Given the description of an element on the screen output the (x, y) to click on. 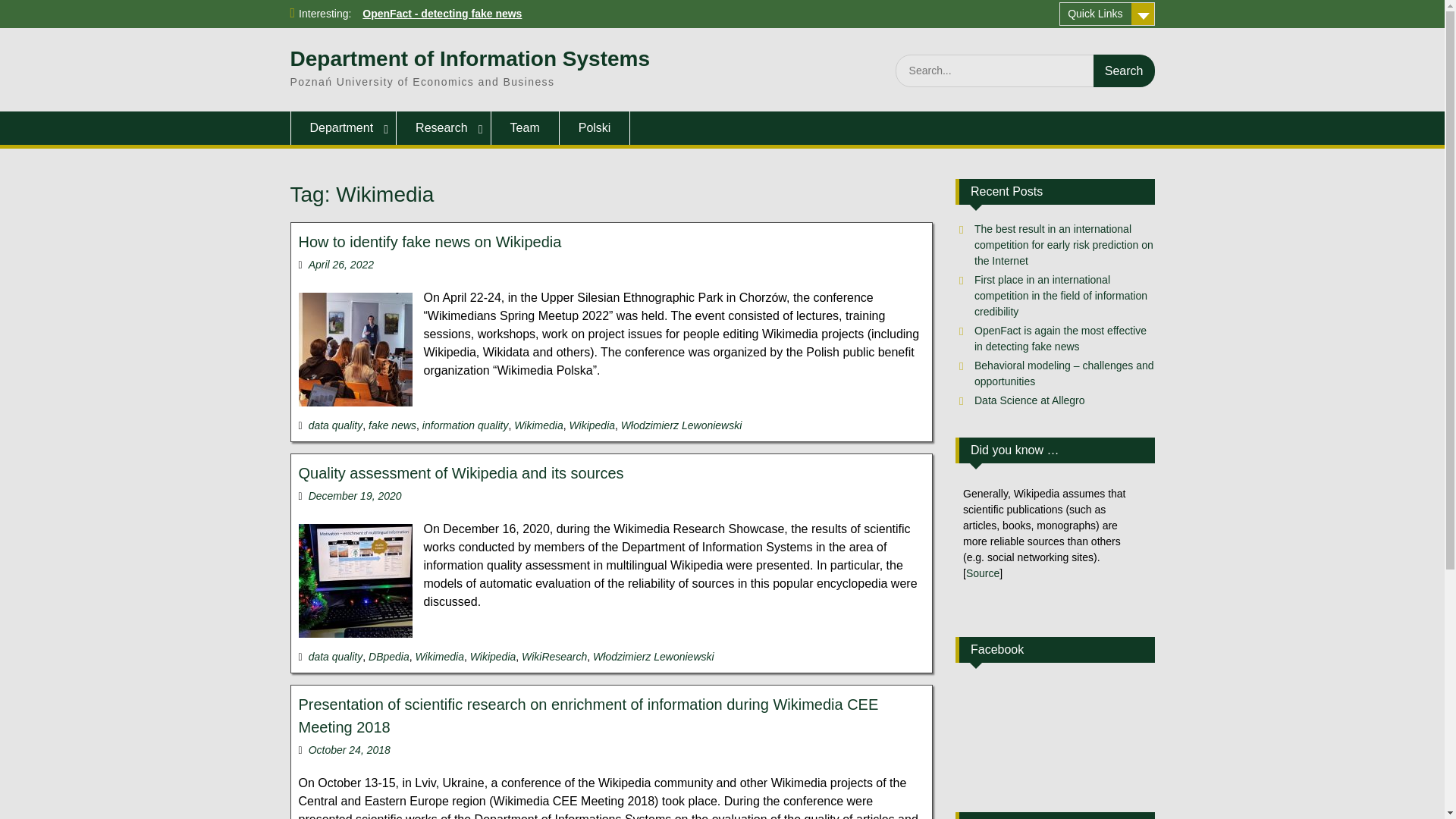
information quality (465, 425)
Search (1123, 70)
April 26, 2022 (341, 264)
Search for: (1024, 70)
Team (525, 127)
Wikimedia (537, 425)
Wikimedia (439, 656)
DBpedia (388, 656)
data quality (335, 425)
December 19, 2020 (354, 495)
